Given the description of an element on the screen output the (x, y) to click on. 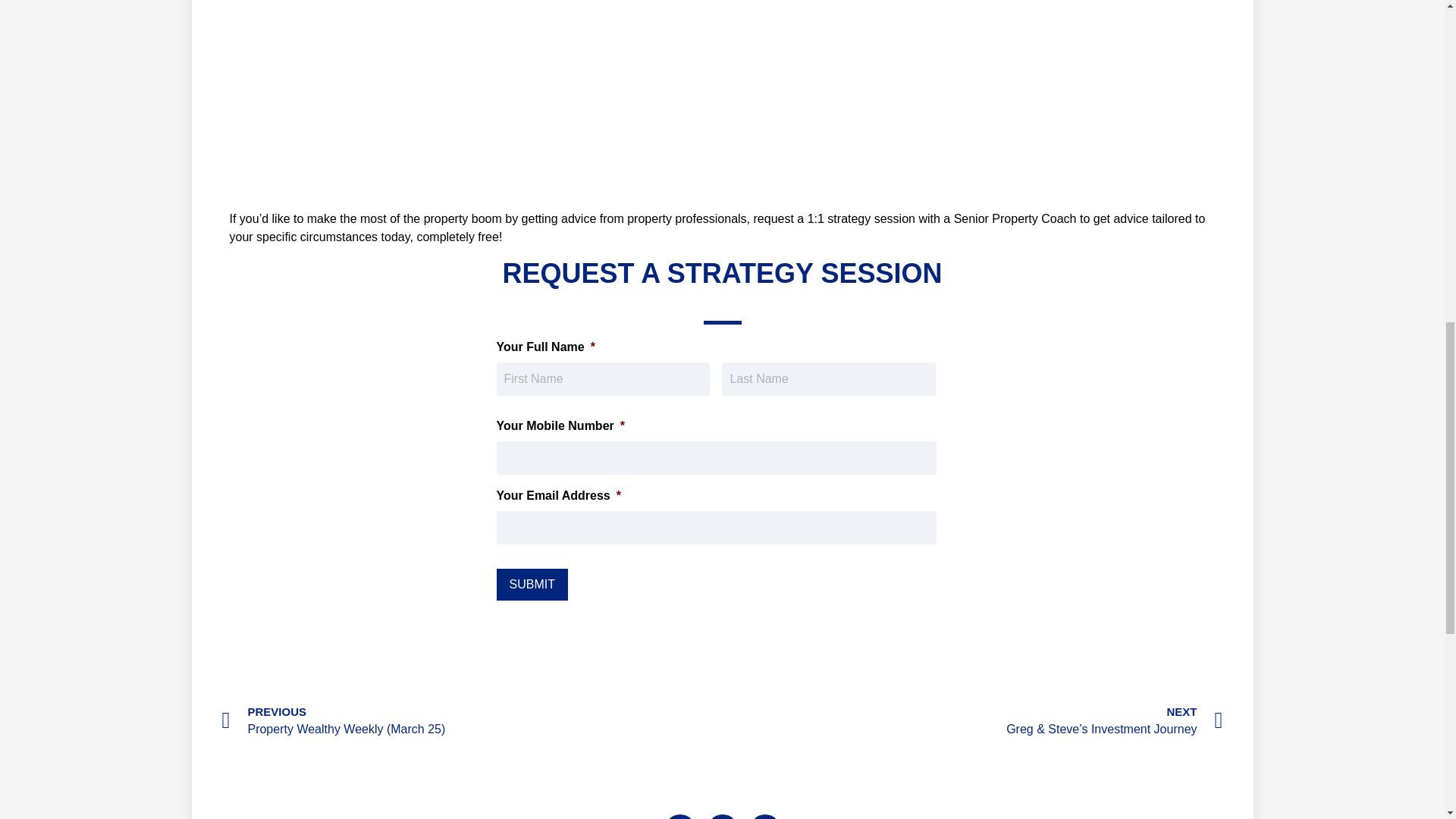
Submit (531, 584)
